Given the description of an element on the screen output the (x, y) to click on. 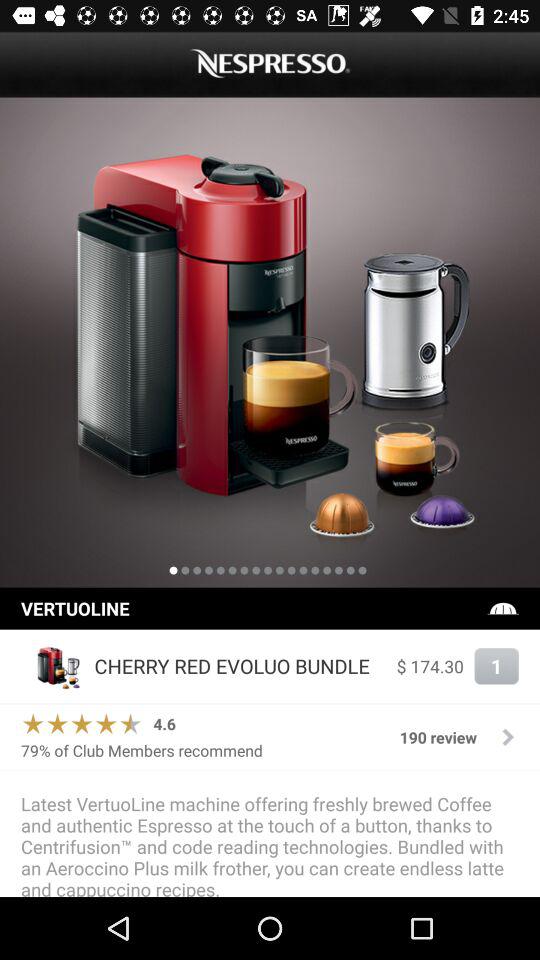
choose the item next to the cherry red evoluo icon (52, 665)
